Given the description of an element on the screen output the (x, y) to click on. 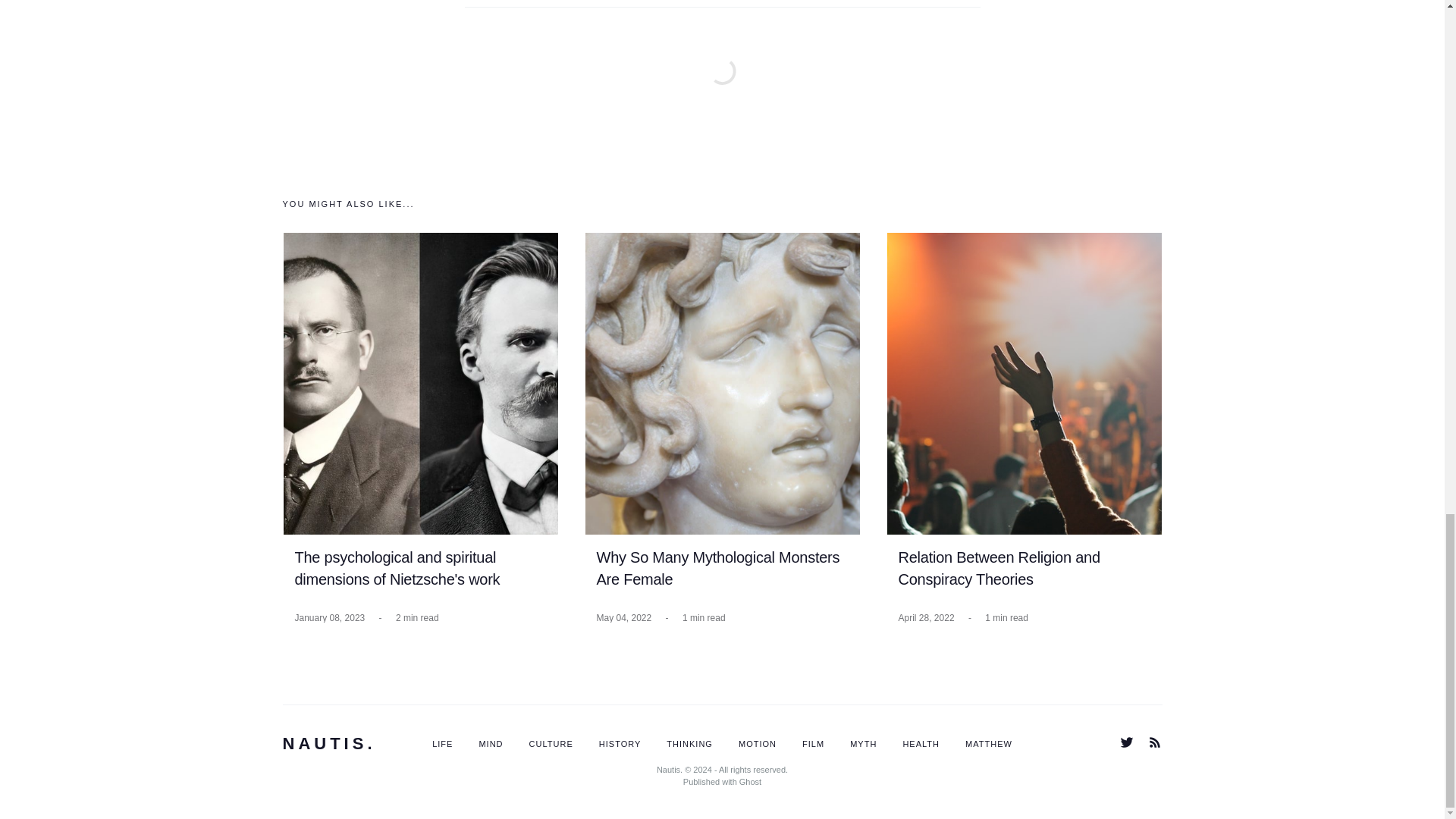
Relation Between Religion and Conspiracy Theories (998, 568)
comments-frame (721, 89)
Why So Many Mythological Monsters Are Female (717, 568)
NAUTIS. (328, 742)
